Given the description of an element on the screen output the (x, y) to click on. 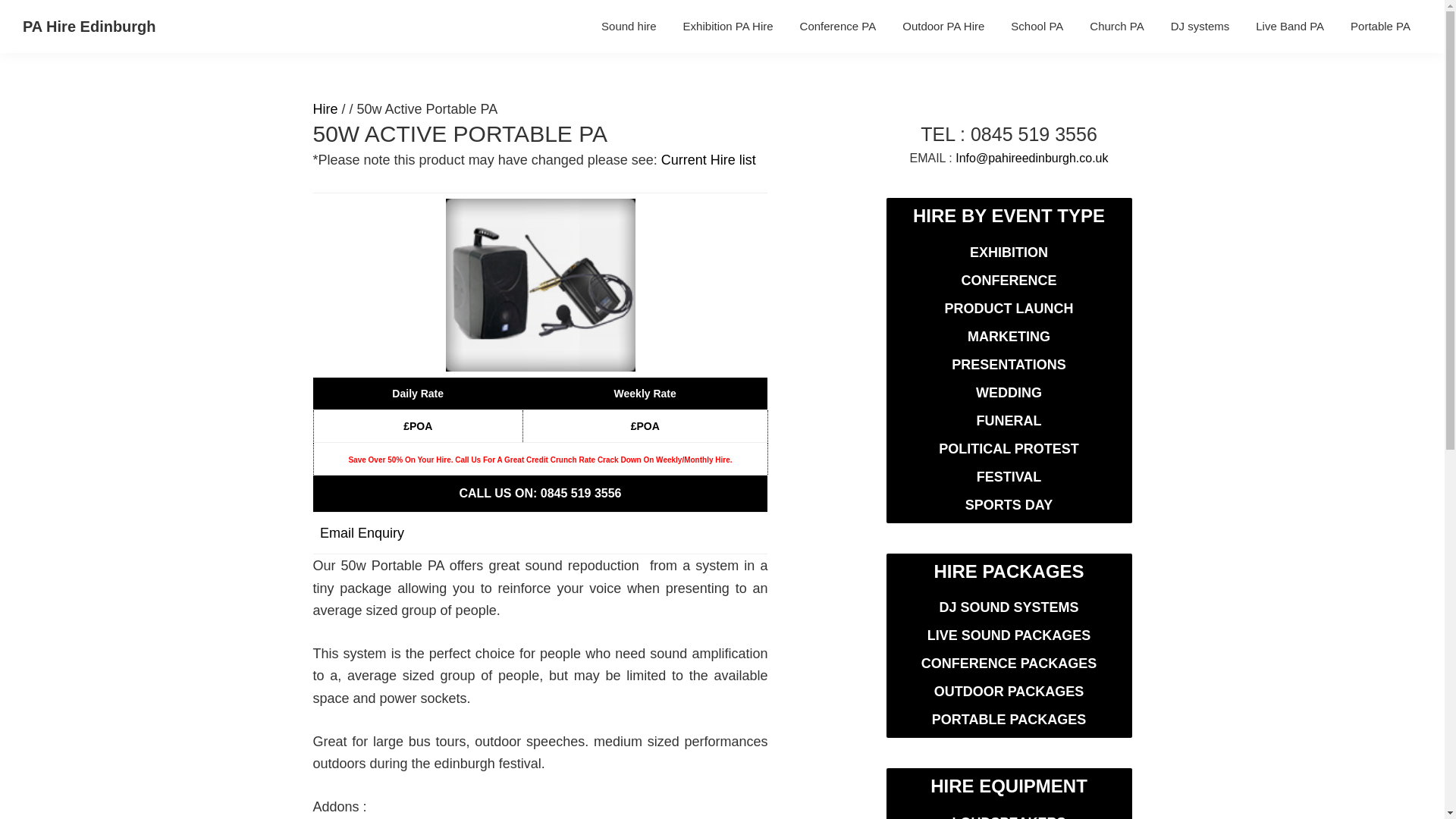
Live Band PA (1289, 25)
Church PA (1116, 25)
PA Hire Edinburgh (89, 26)
DJ systems (1199, 25)
50w Active Portable PA (539, 285)
Sound hire (628, 25)
Outdoor PA Hire (943, 25)
Conference PA (838, 25)
School PA (1036, 25)
